Given the description of an element on the screen output the (x, y) to click on. 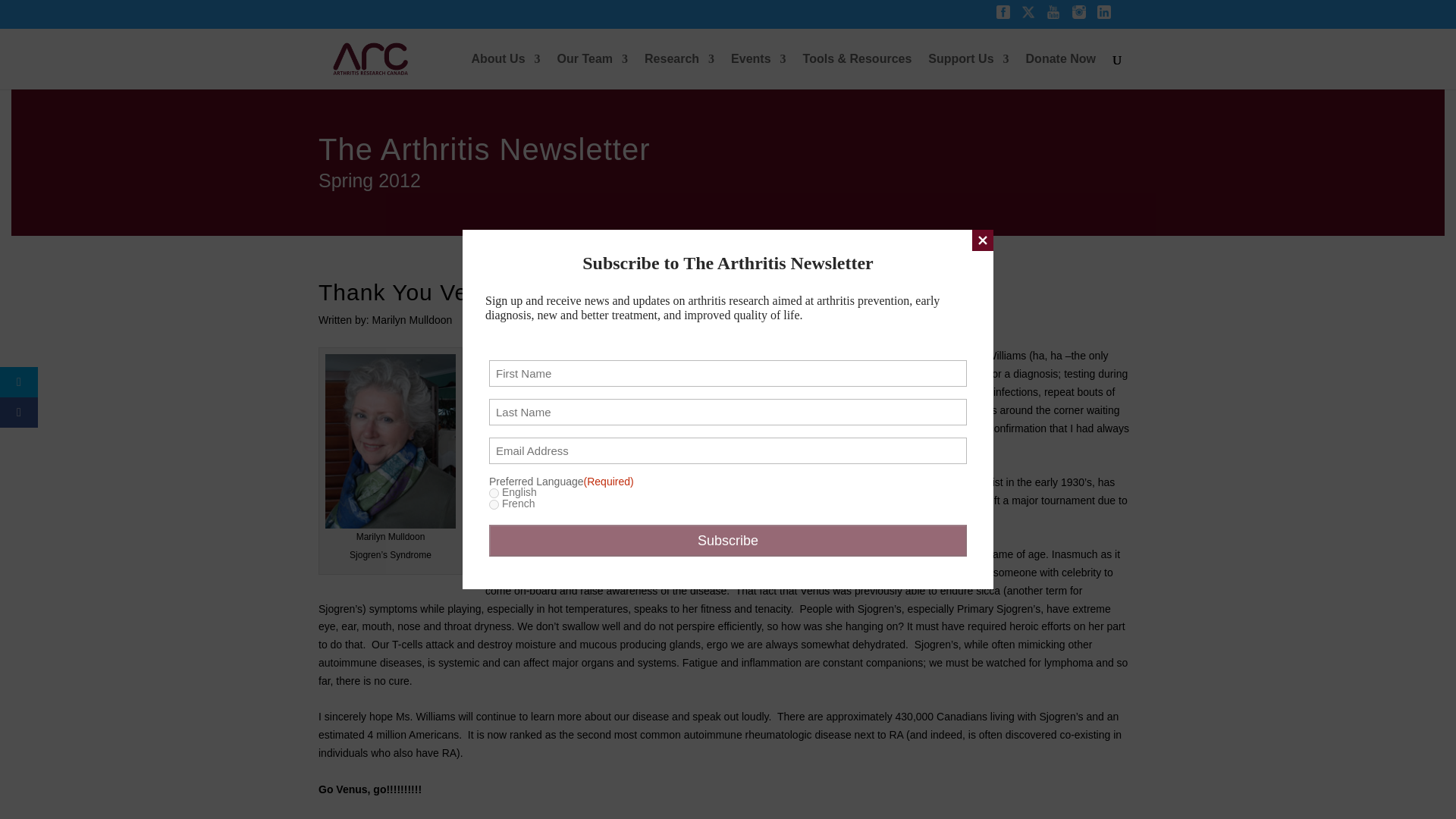
English (494, 492)
Research (679, 70)
Our Team (592, 70)
French (494, 504)
Subscribe (727, 540)
About Us (505, 70)
